Given the description of an element on the screen output the (x, y) to click on. 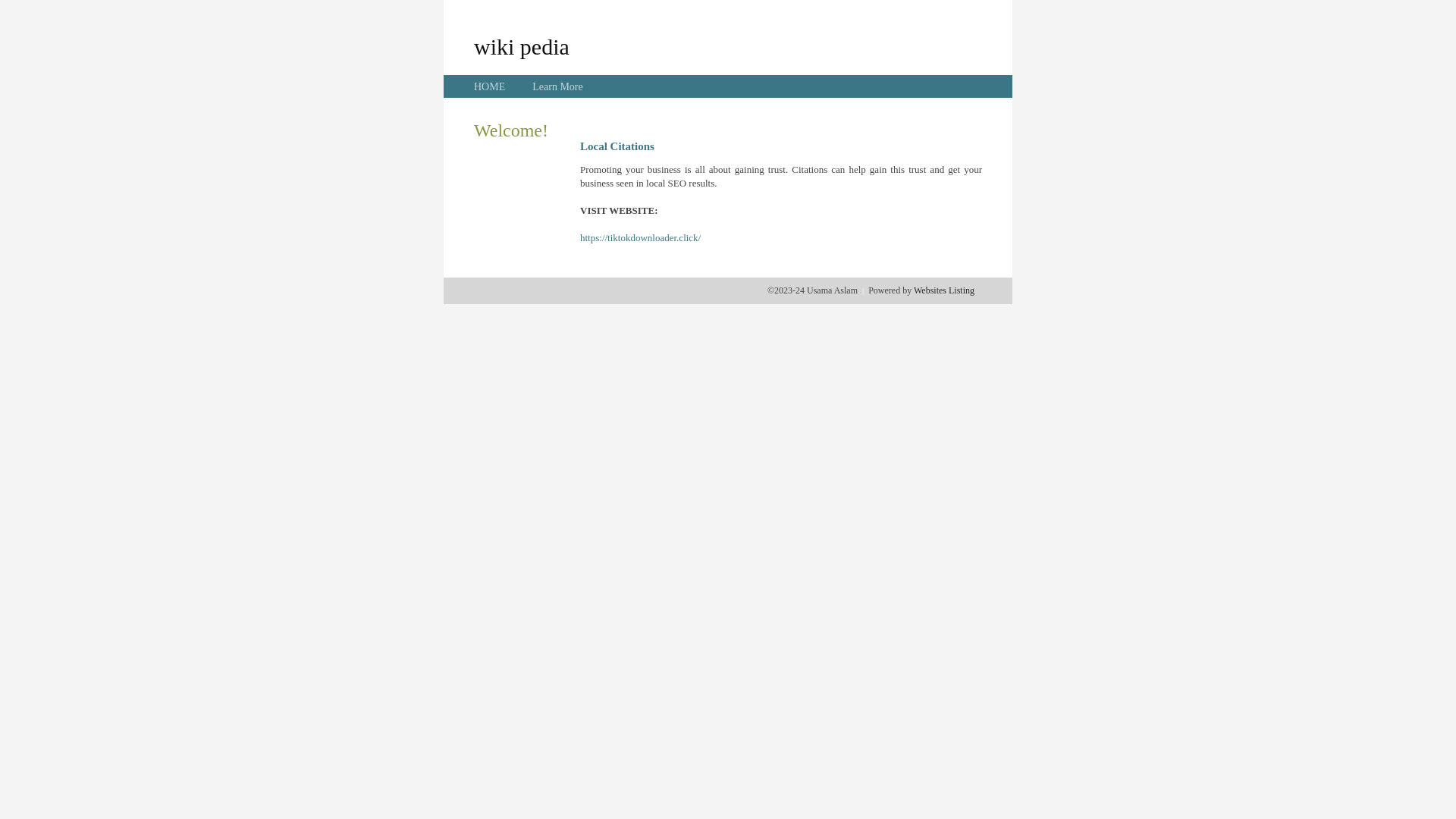
wiki pedia Element type: text (521, 46)
Learn More Element type: text (557, 86)
HOME Element type: text (489, 86)
Websites Listing Element type: text (943, 290)
https://tiktokdownloader.click/ Element type: text (640, 237)
